Given the description of an element on the screen output the (x, y) to click on. 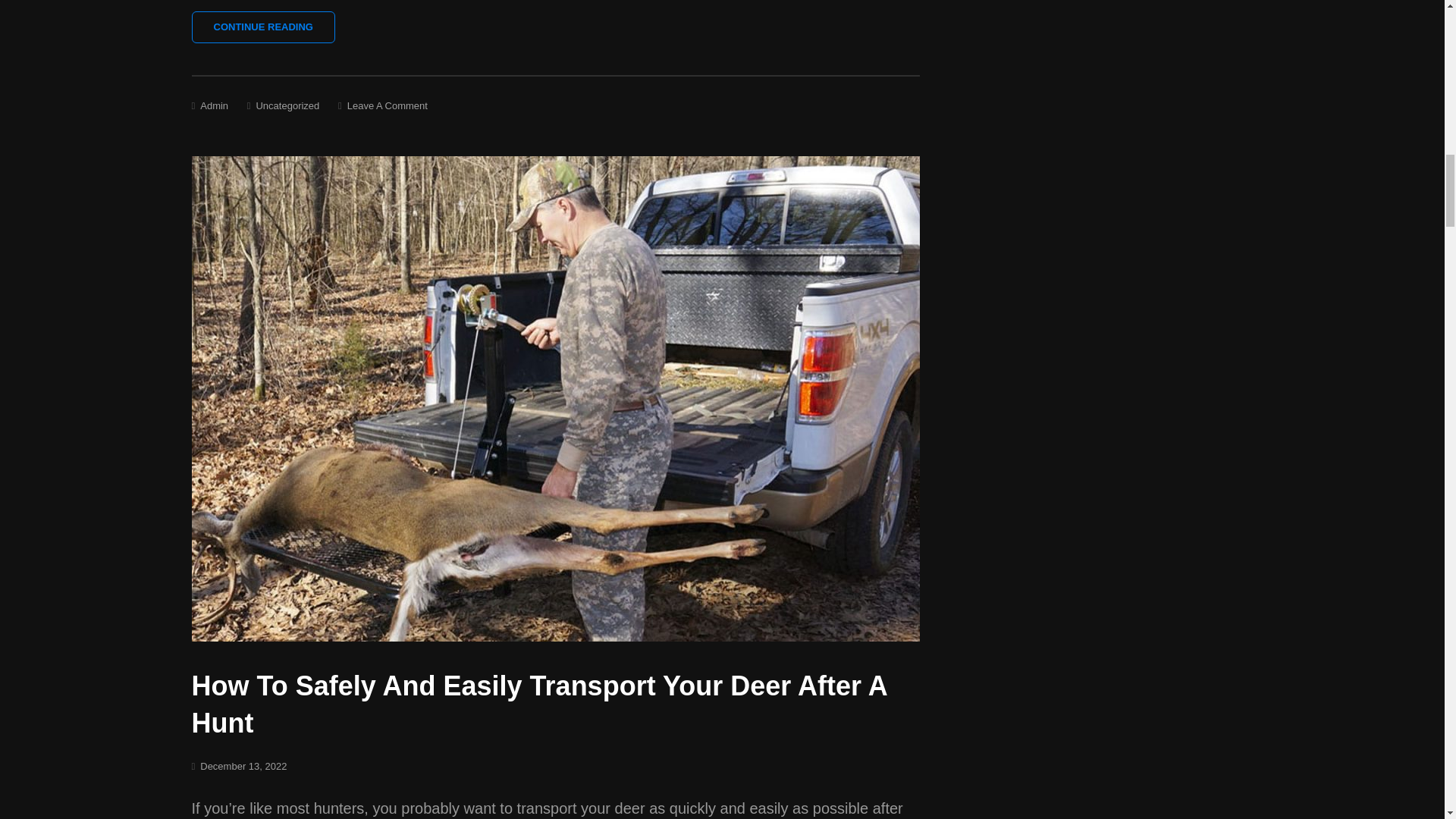
December 13, 2022 (243, 766)
Admin (214, 105)
Uncategorized (287, 105)
How To Safely And Easily Transport Your Deer After A Hunt (538, 704)
Leave A Comment (387, 105)
